Given the description of an element on the screen output the (x, y) to click on. 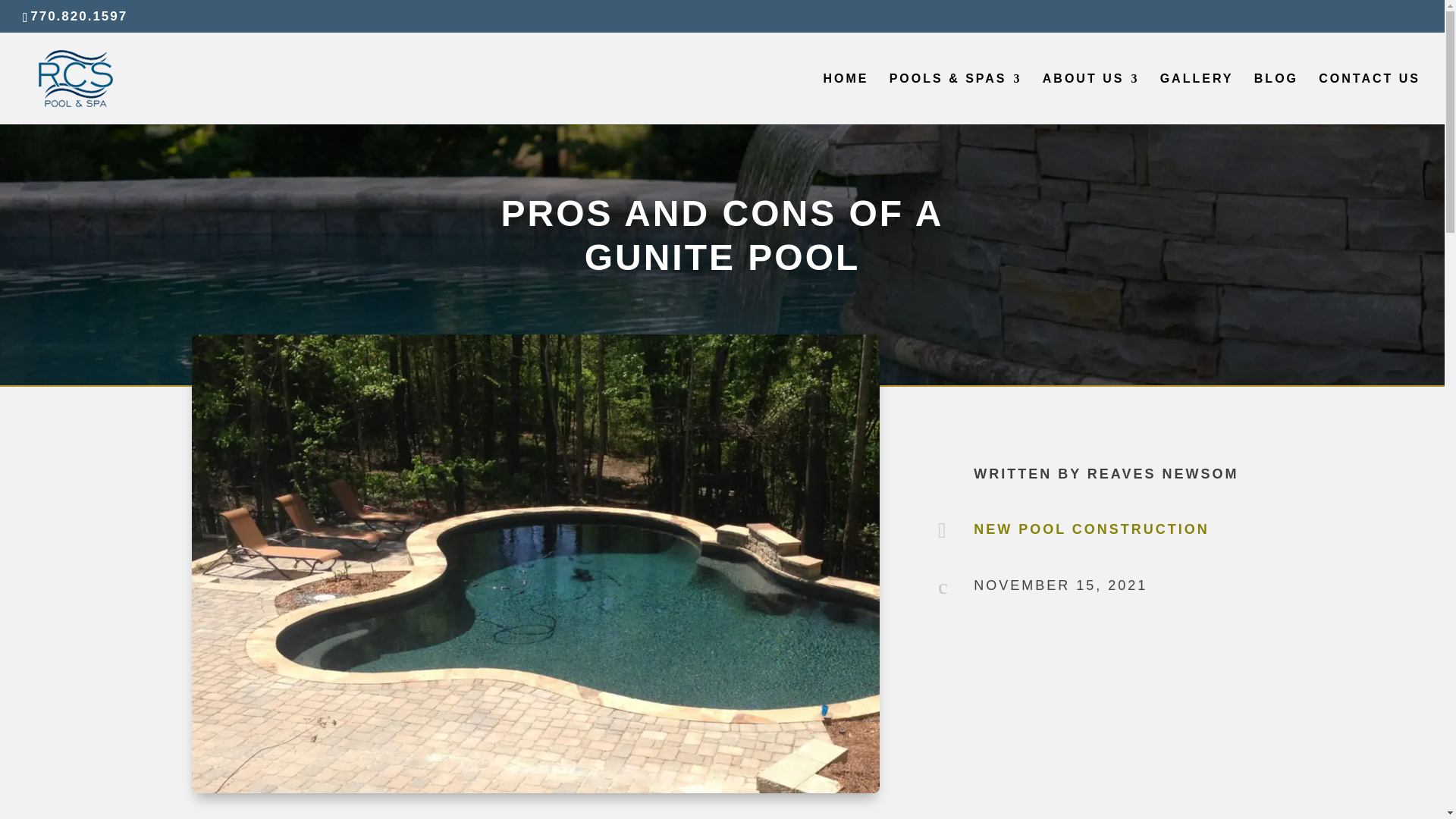
GALLERY (1196, 97)
REAVES NEWSOM (1163, 473)
CONTACT US (1370, 97)
NEW POOL CONSTRUCTION (1091, 529)
ABOUT US (1091, 97)
